Given the description of an element on the screen output the (x, y) to click on. 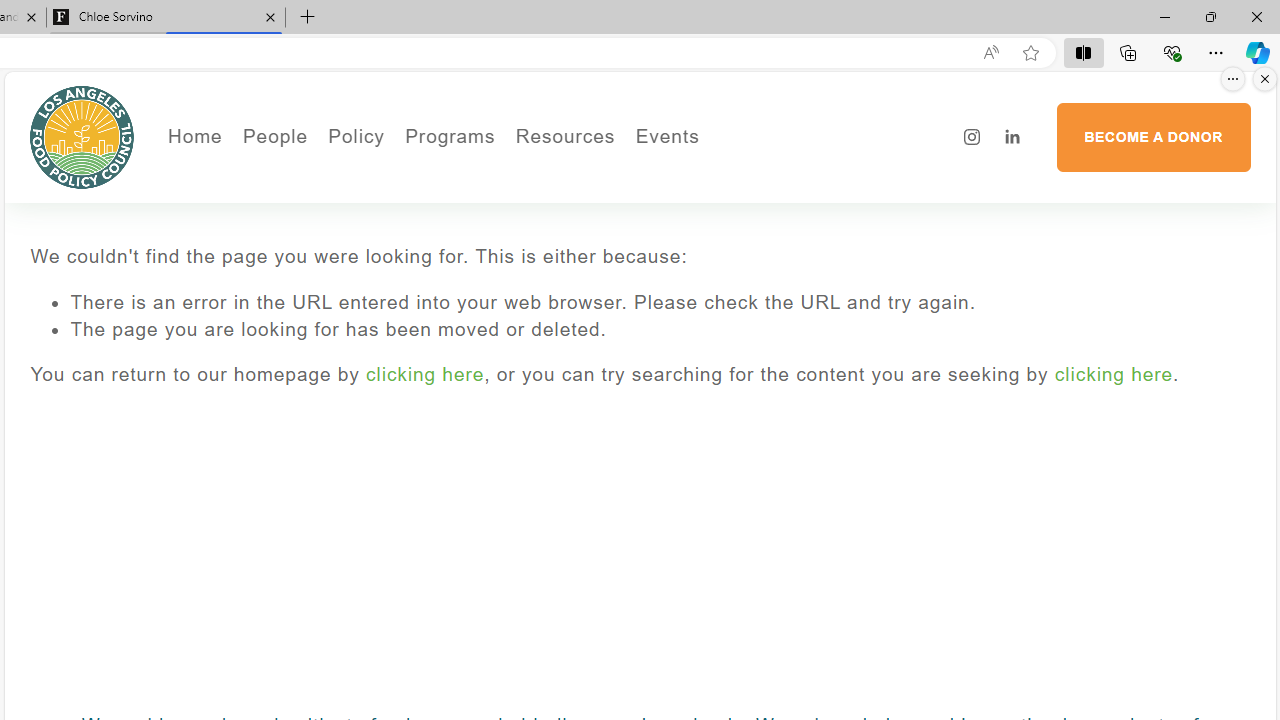
Publications (468, 205)
Blog (341, 261)
Food Leaders Lab (468, 232)
More options. (1233, 79)
Working Groups and Alliances (468, 176)
Cultivating Farmers (504, 232)
Healthy Markets LA (504, 176)
Reports (341, 290)
Los Angeles Food Policy Council (81, 136)
